Given the description of an element on the screen output the (x, y) to click on. 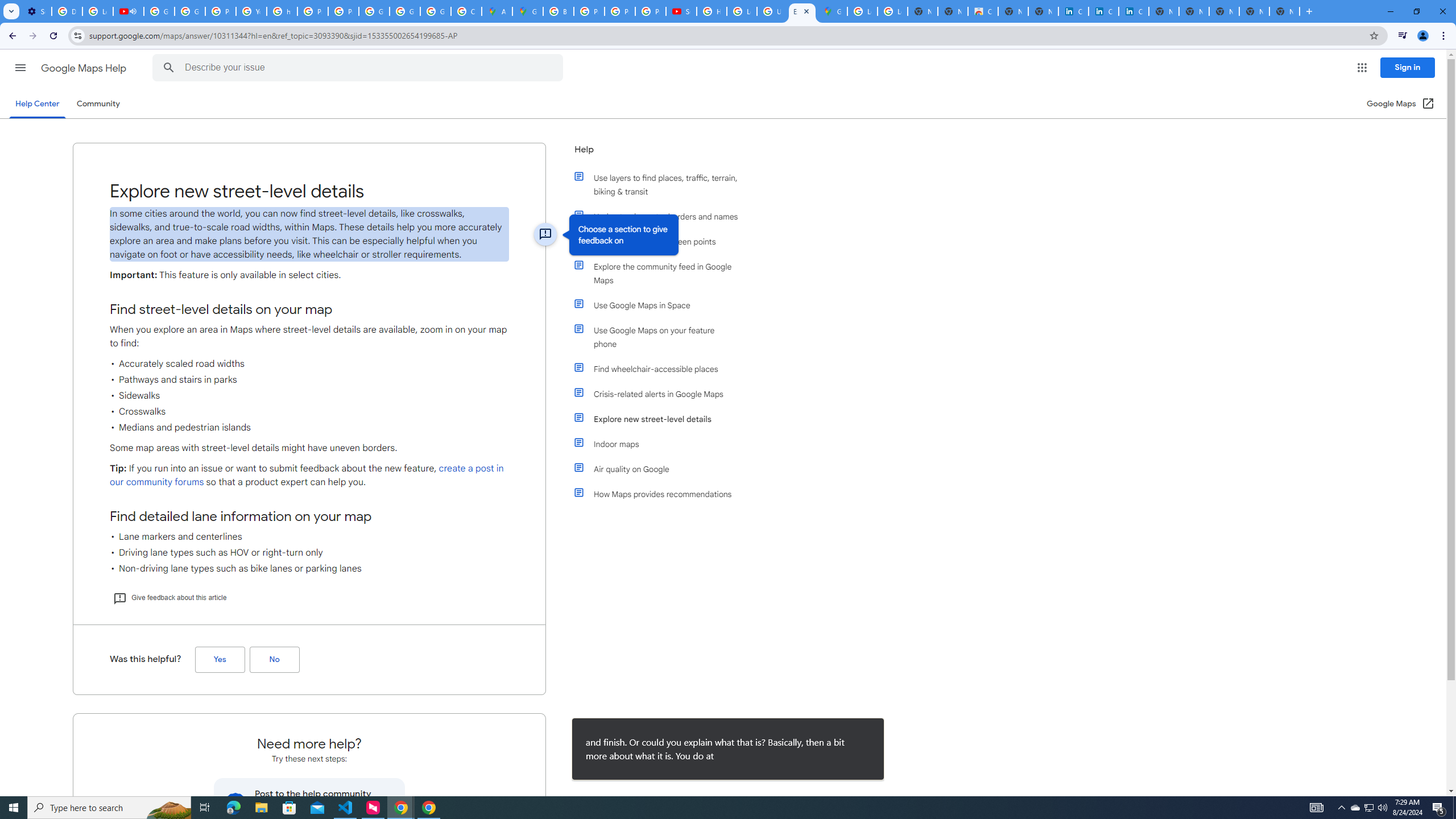
Air quality on Google (661, 469)
New Tab (1283, 11)
Describe your issue (359, 67)
YouTube (251, 11)
Use Google Maps in Space (661, 305)
Google Maps (832, 11)
Crisis-related alerts in Google Maps (661, 394)
